Given the description of an element on the screen output the (x, y) to click on. 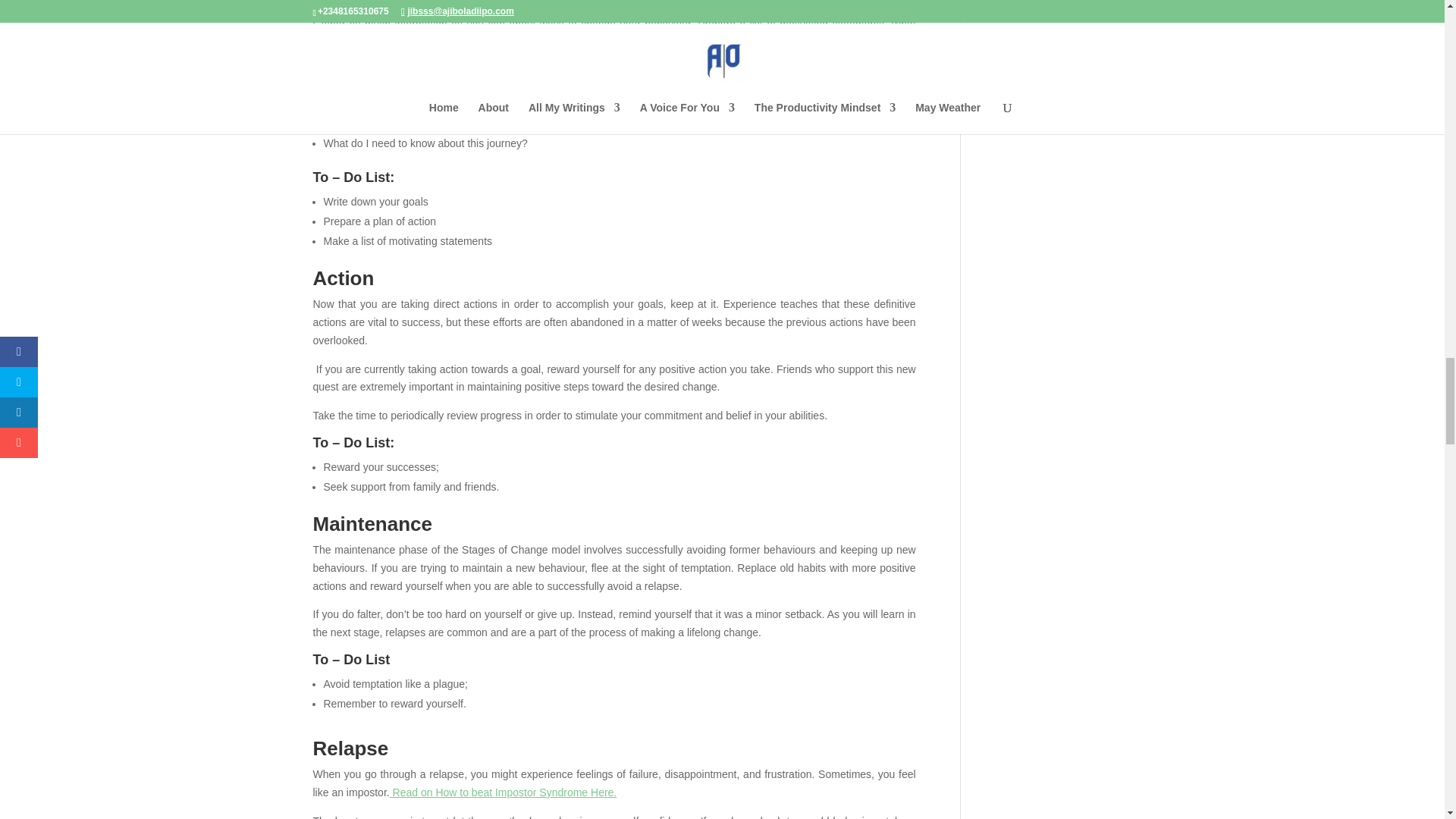
Read on How to beat Impostor Syndrome Here. (503, 792)
